Given the description of an element on the screen output the (x, y) to click on. 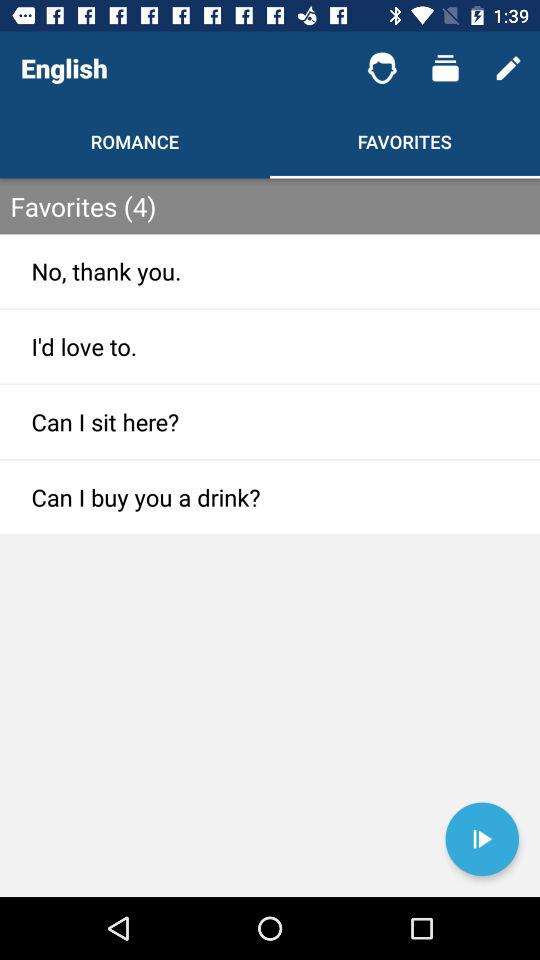
turn off item to the right of english (381, 67)
